Given the description of an element on the screen output the (x, y) to click on. 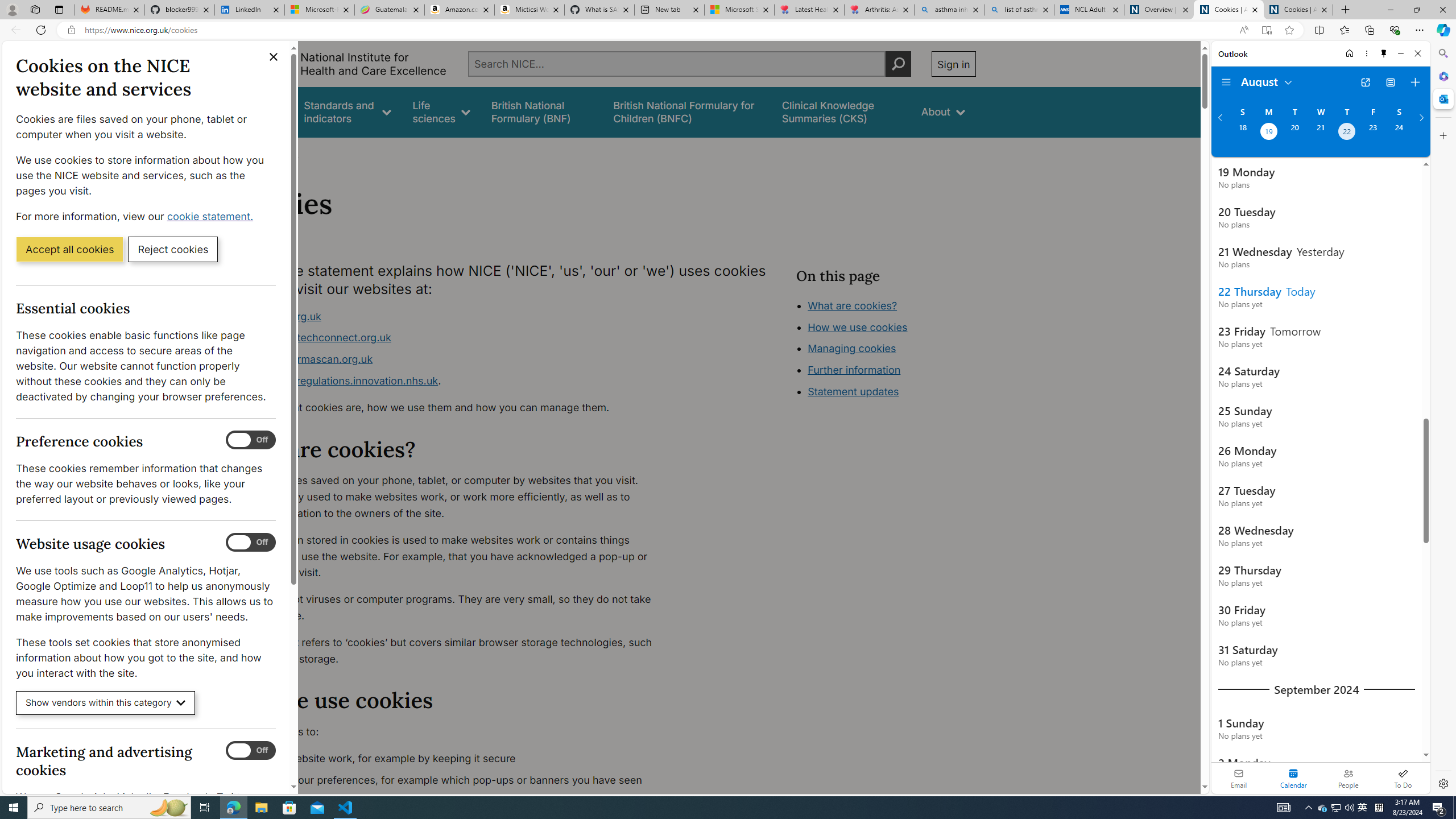
What are cookies? (852, 305)
To Do (1402, 777)
Website usage cookies (250, 542)
People (1347, 777)
Selected calendar module. Date today is 22 (1293, 777)
Sign in (952, 63)
Guidance (260, 111)
Address and search bar (658, 29)
Close cookie banner (273, 56)
